Given the description of an element on the screen output the (x, y) to click on. 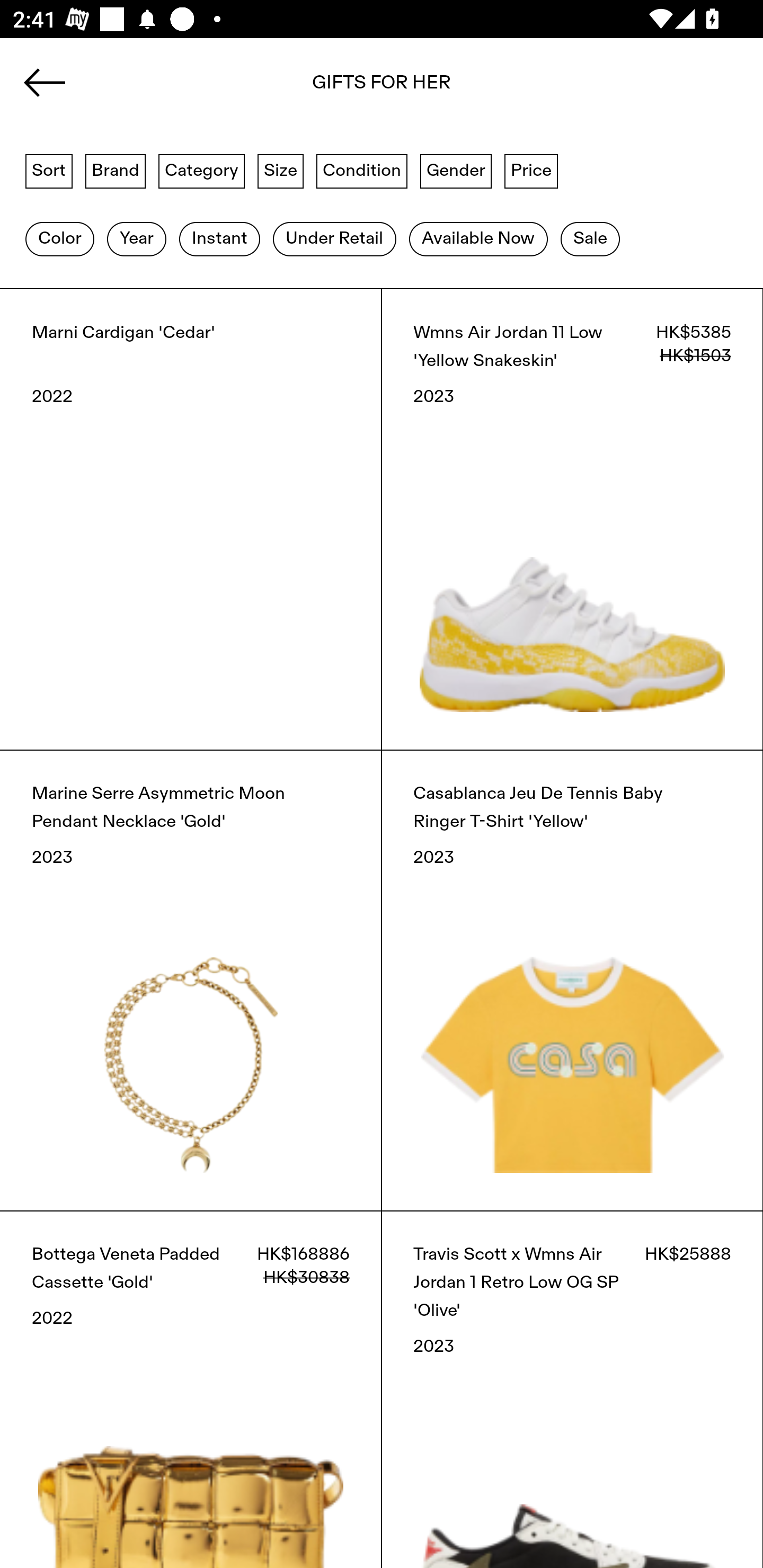
Search (381, 88)
Sort (48, 170)
Brand (115, 170)
Category (201, 170)
Size (280, 170)
Condition (361, 170)
Gender (455, 170)
Price (530, 170)
Color (59, 239)
Year (136, 239)
Instant (219, 239)
Under Retail (334, 239)
Available Now (477, 239)
Sale (589, 239)
Marni Cardigan 'Cedar' 2022 (190, 518)
